Given the description of an element on the screen output the (x, y) to click on. 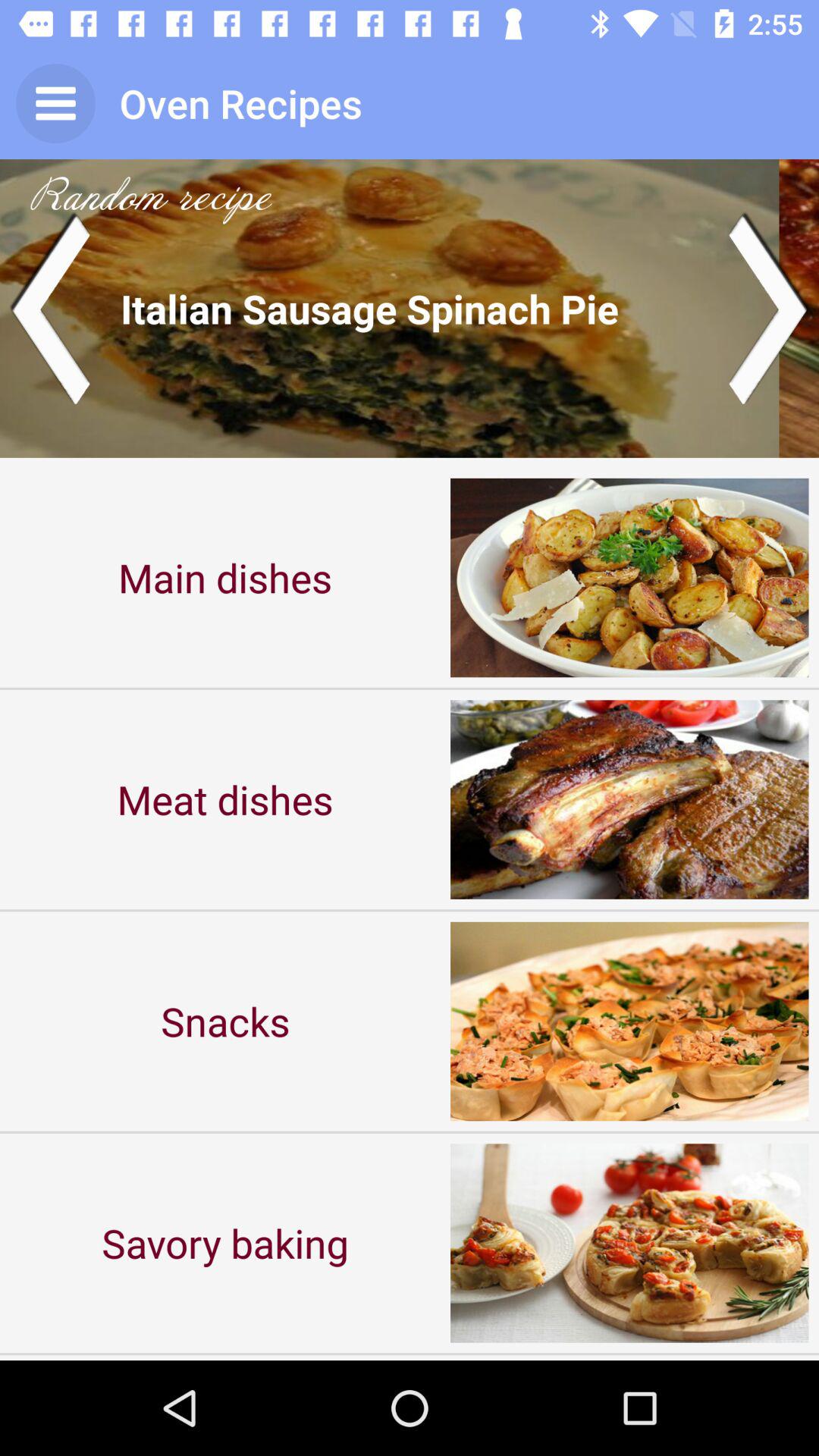
go next (769, 308)
